Given the description of an element on the screen output the (x, y) to click on. 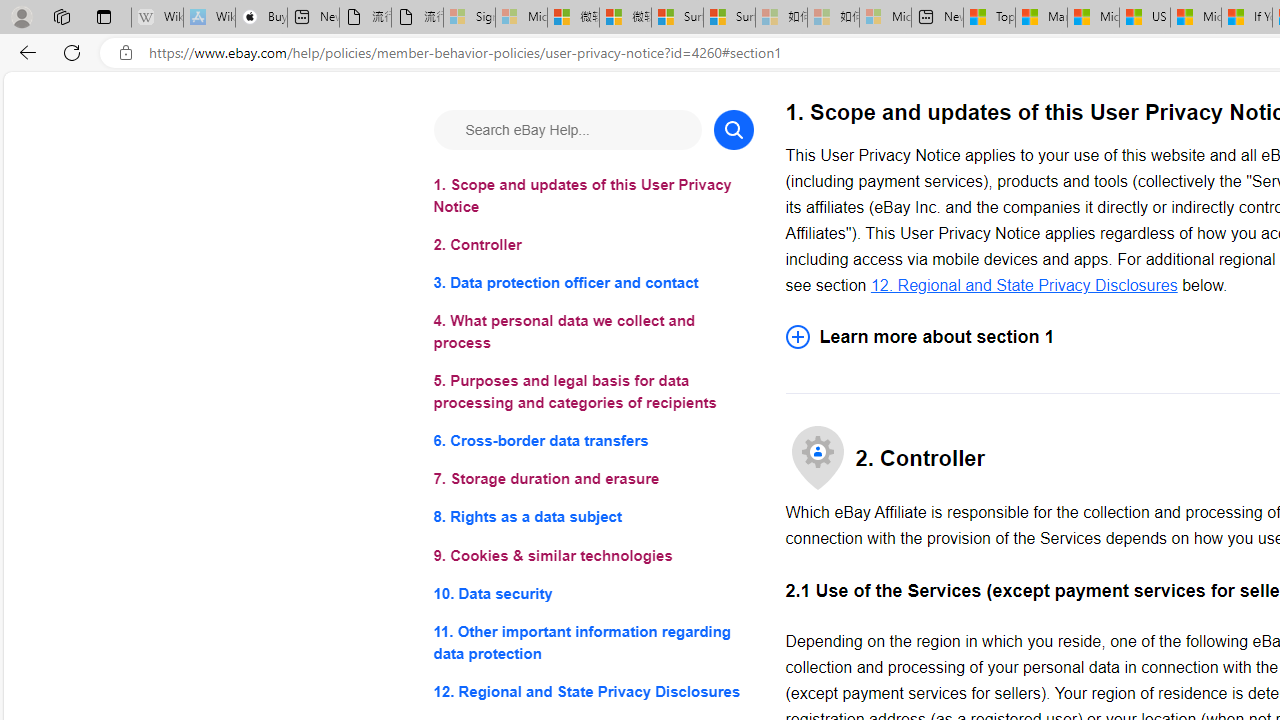
11. Other important information regarding data protection (592, 642)
9. Cookies & similar technologies (592, 555)
1. Scope and updates of this User Privacy Notice (592, 196)
6. Cross-border data transfers (592, 440)
3. Data protection officer and contact (592, 283)
12. Regional and State Privacy Disclosures (1023, 284)
7. Storage duration and erasure (592, 479)
8. Rights as a data subject (592, 517)
10. Data security (592, 592)
Search eBay Help... (566, 129)
